Given the description of an element on the screen output the (x, y) to click on. 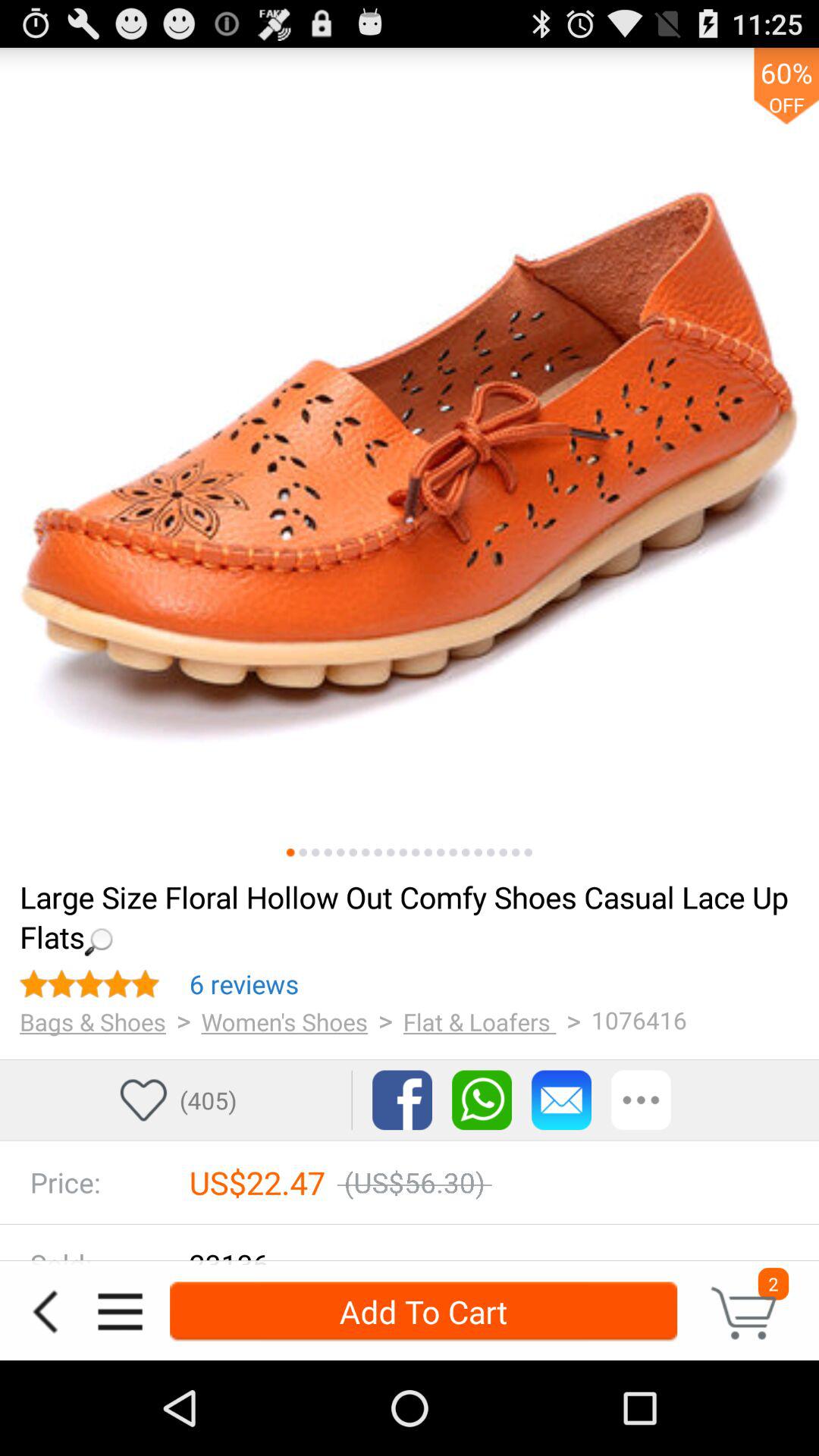
go to previous images (490, 852)
